Given the description of an element on the screen output the (x, y) to click on. 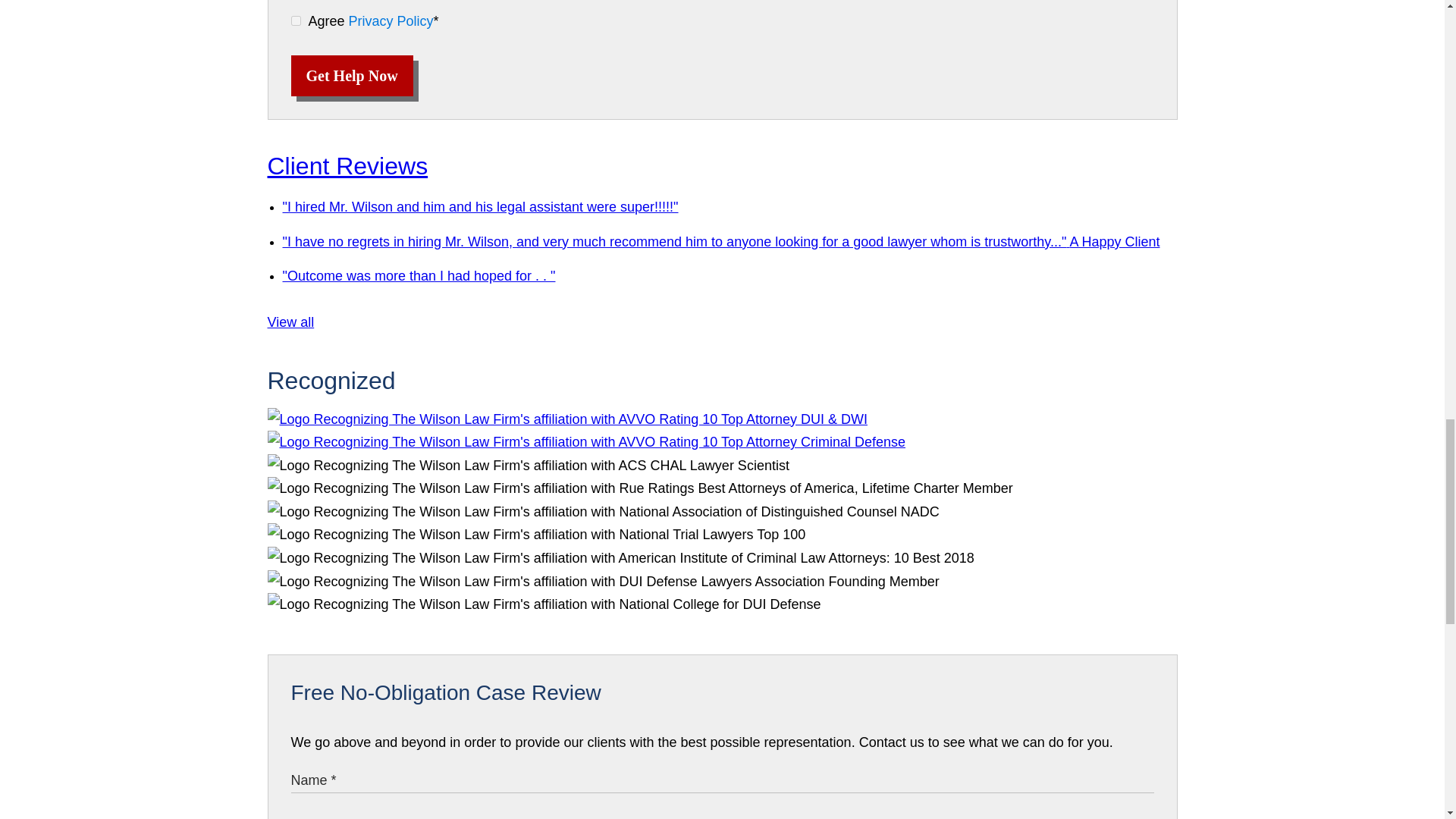
1 (296, 20)
